Given the description of an element on the screen output the (x, y) to click on. 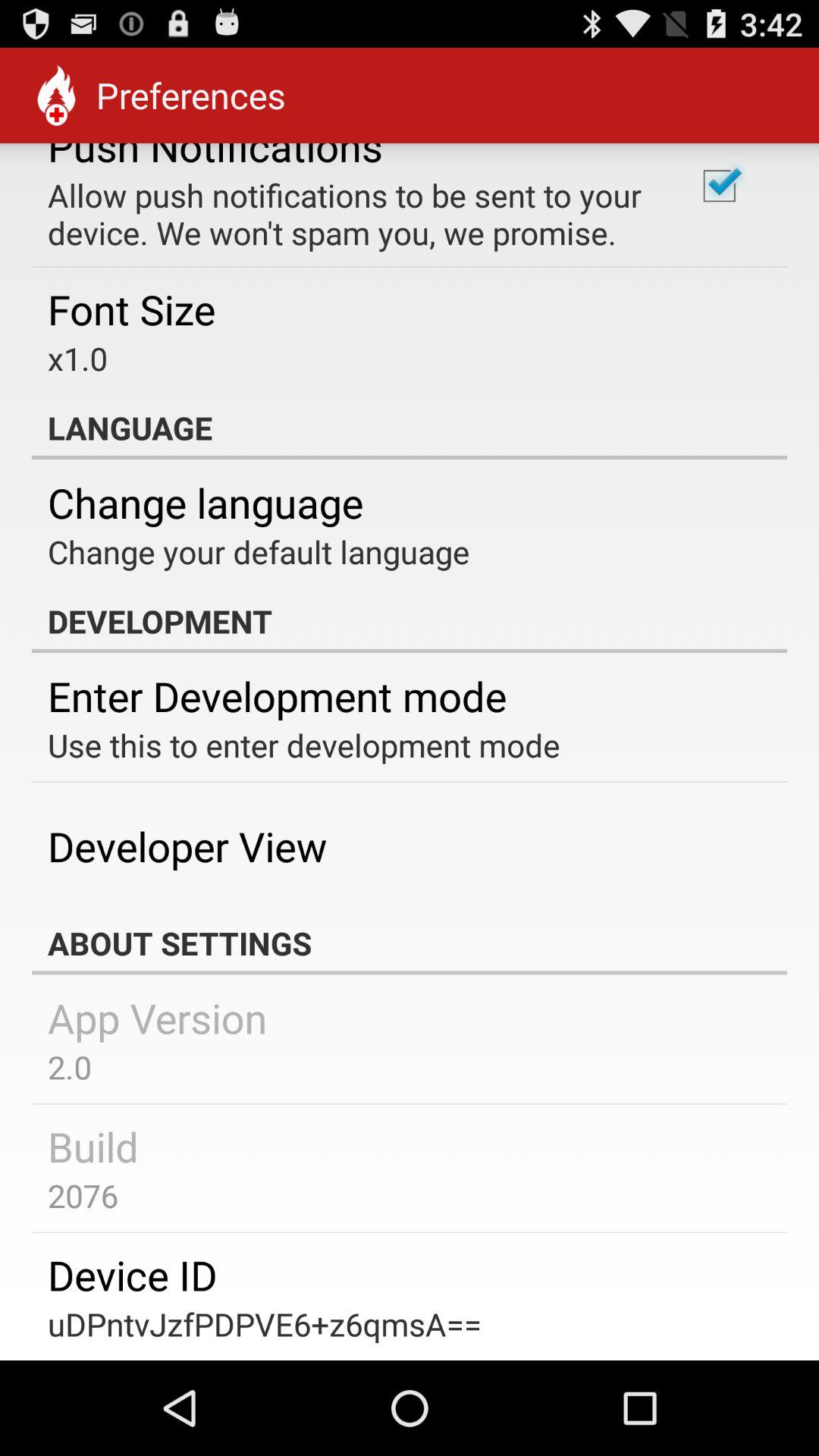
tap the item above the udpntvjzfpdpve6+z6qmsa== item (132, 1274)
